Given the description of an element on the screen output the (x, y) to click on. 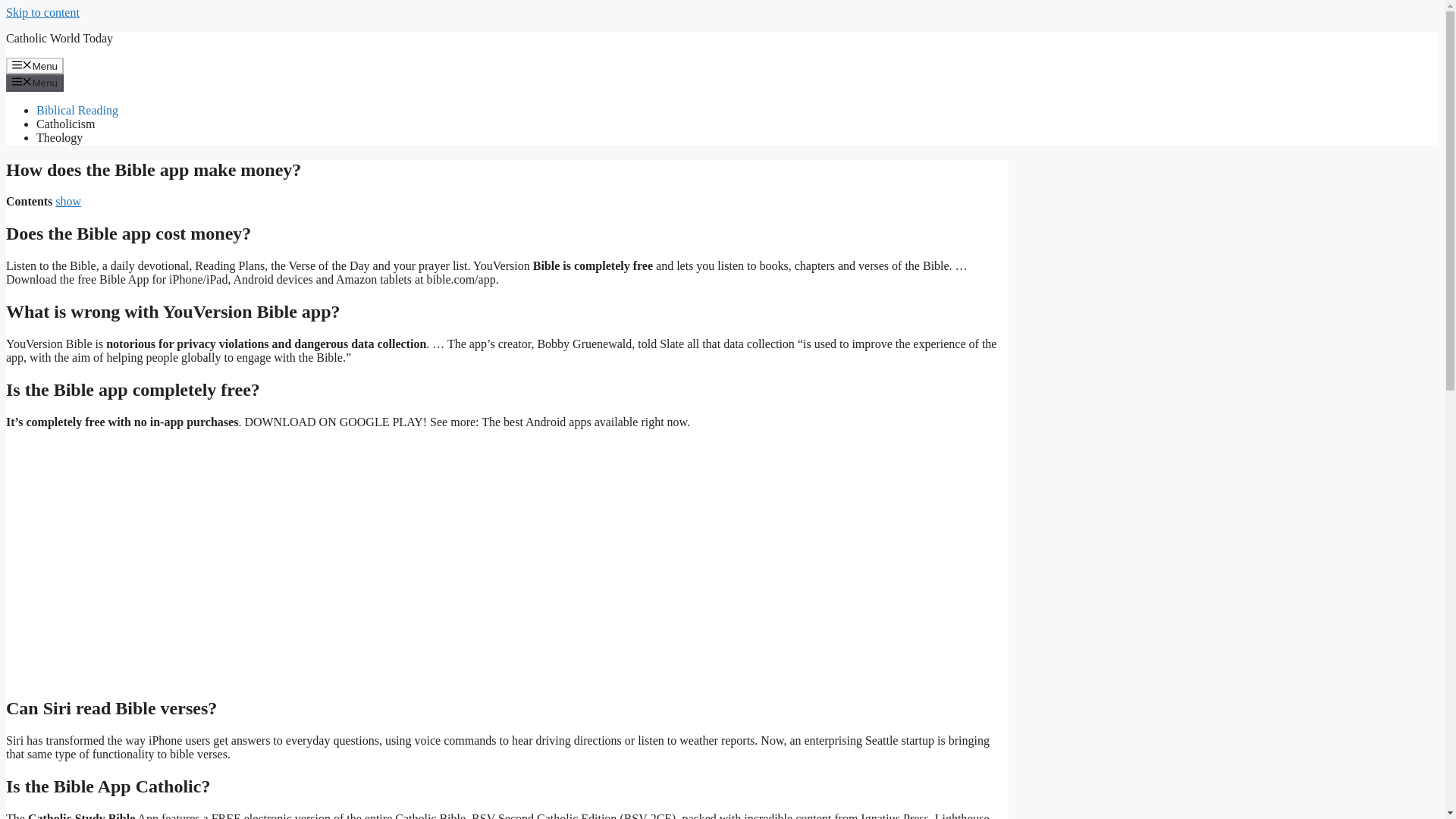
Catholicism (65, 123)
Biblical Reading (76, 110)
Skip to content (42, 11)
Menu (34, 65)
show (68, 201)
Catholic World Today (59, 38)
Menu (34, 82)
Skip to content (42, 11)
Theology (59, 137)
